Given the description of an element on the screen output the (x, y) to click on. 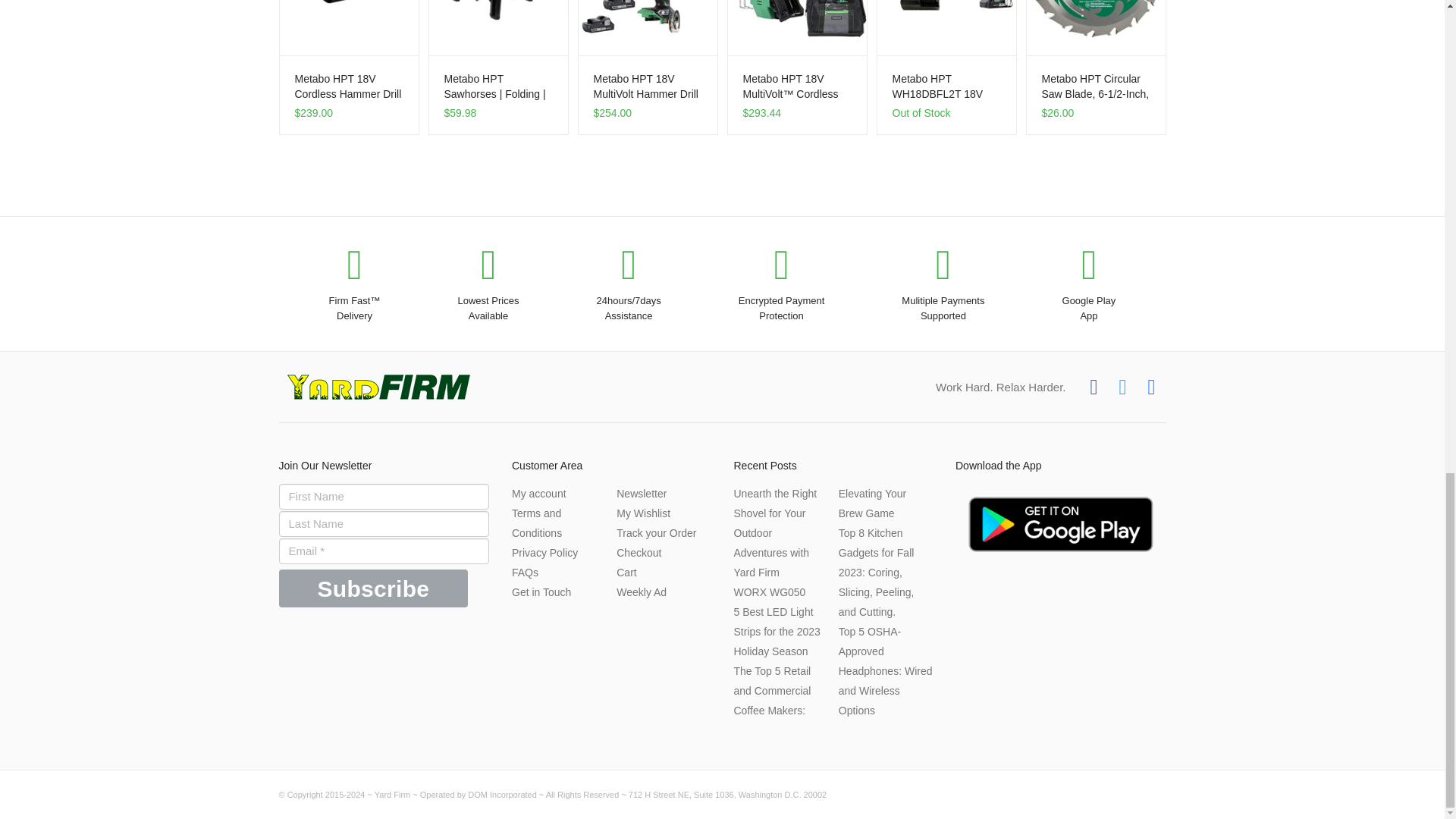
Subscribe (373, 588)
